Given the description of an element on the screen output the (x, y) to click on. 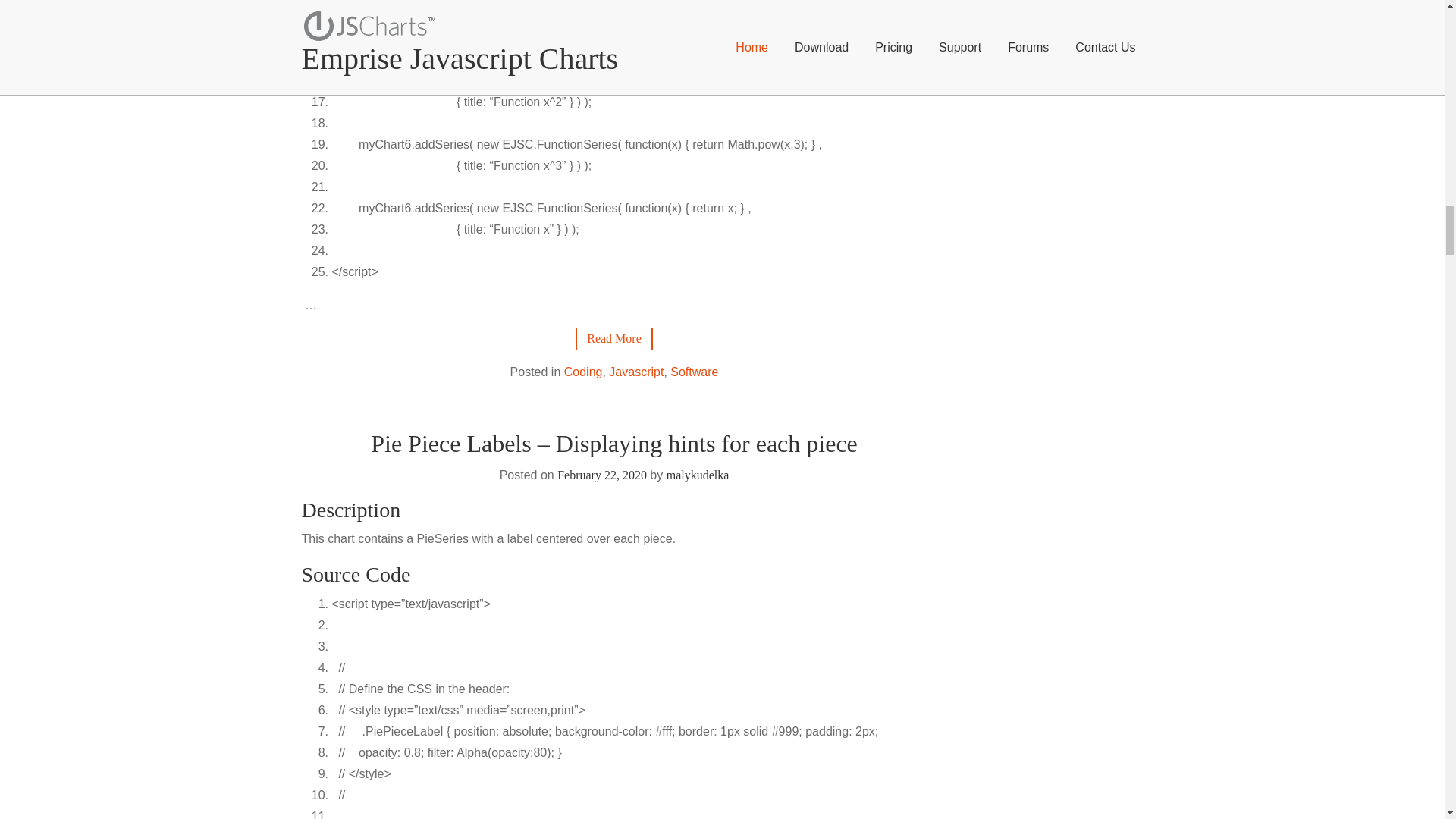
Software (693, 371)
malykudelka (697, 474)
Javascript (635, 371)
February 22, 2020 (601, 474)
Coding (583, 371)
Read More (613, 338)
